Given the description of an element on the screen output the (x, y) to click on. 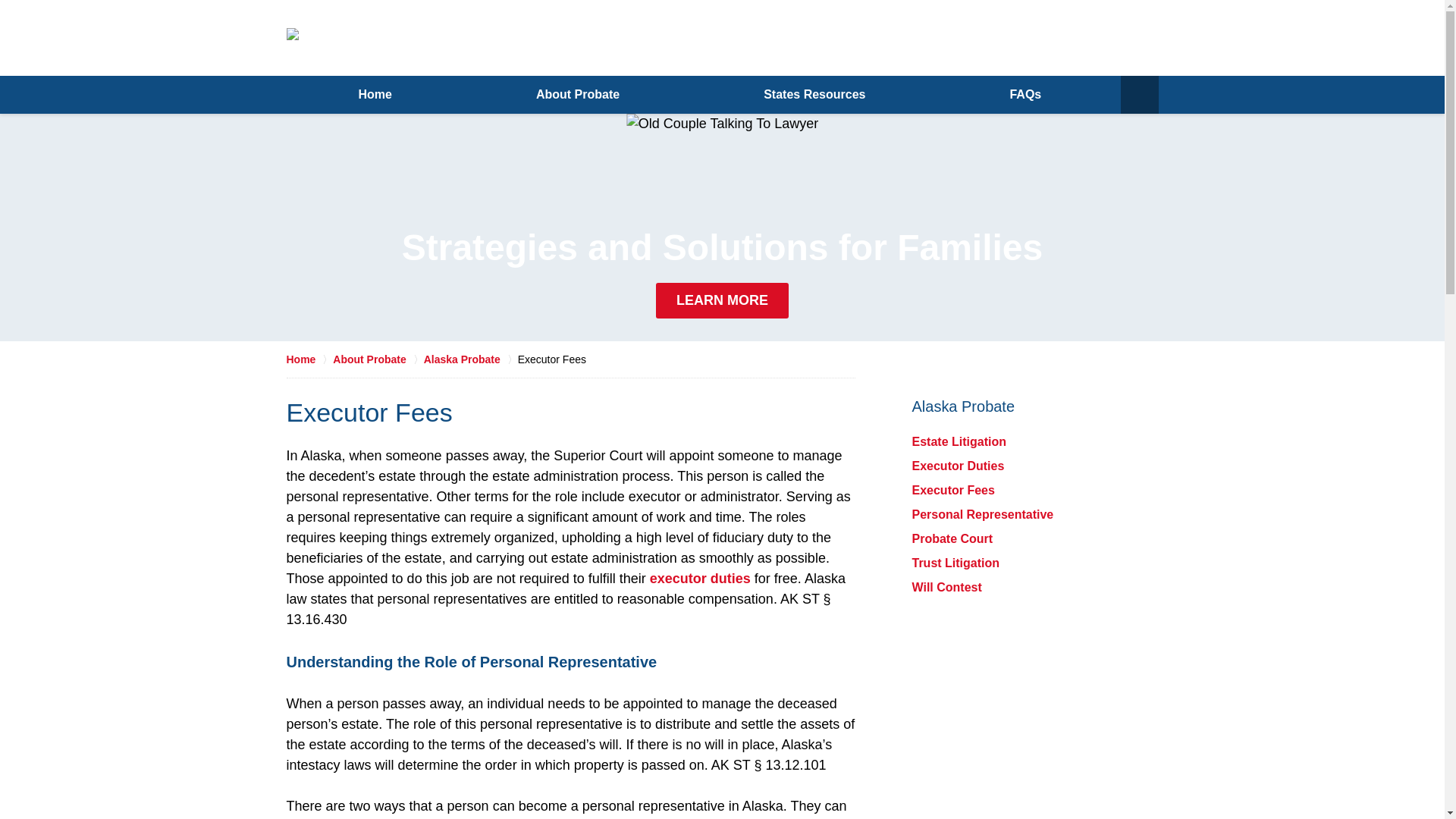
Trust Litigation (954, 562)
executor duties (700, 578)
Will Contest (946, 586)
About Probate (378, 359)
Home (309, 359)
Alaska Probate (470, 359)
Probate Court (951, 538)
About Probate (577, 94)
Personal Representative (981, 513)
Probate Law Center (458, 37)
